Given the description of an element on the screen output the (x, y) to click on. 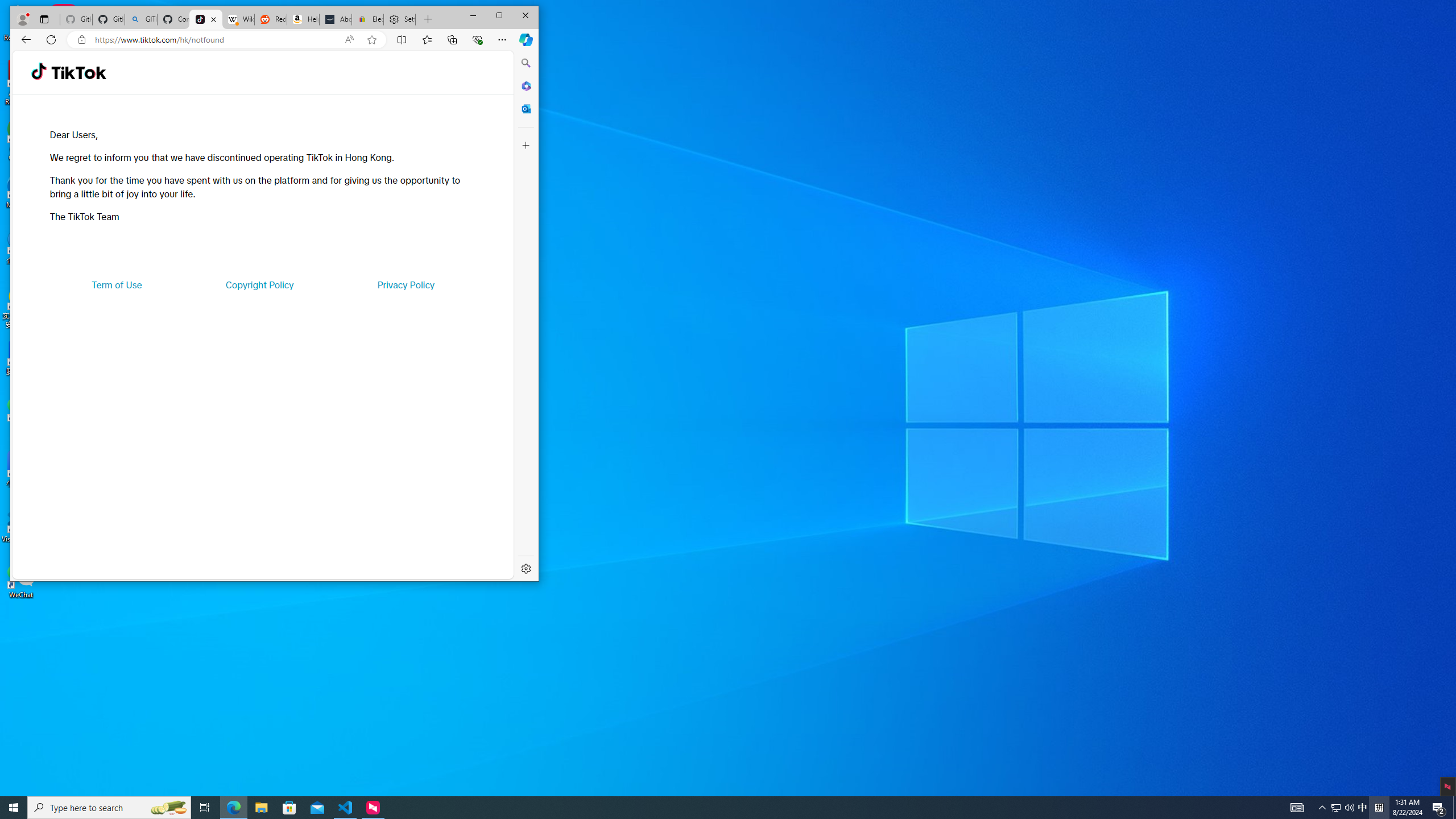
Reddit - Dive into anything (269, 19)
TikTok (78, 72)
Term of Use (116, 284)
Search highlights icon opens search home window (167, 807)
Task View (204, 807)
Q2790: 100% (1349, 807)
Microsoft Store (289, 807)
Wikipedia, the free encyclopedia (237, 19)
Running applications (707, 807)
Action Center, 2 new notifications (1439, 807)
